Given the description of an element on the screen output the (x, y) to click on. 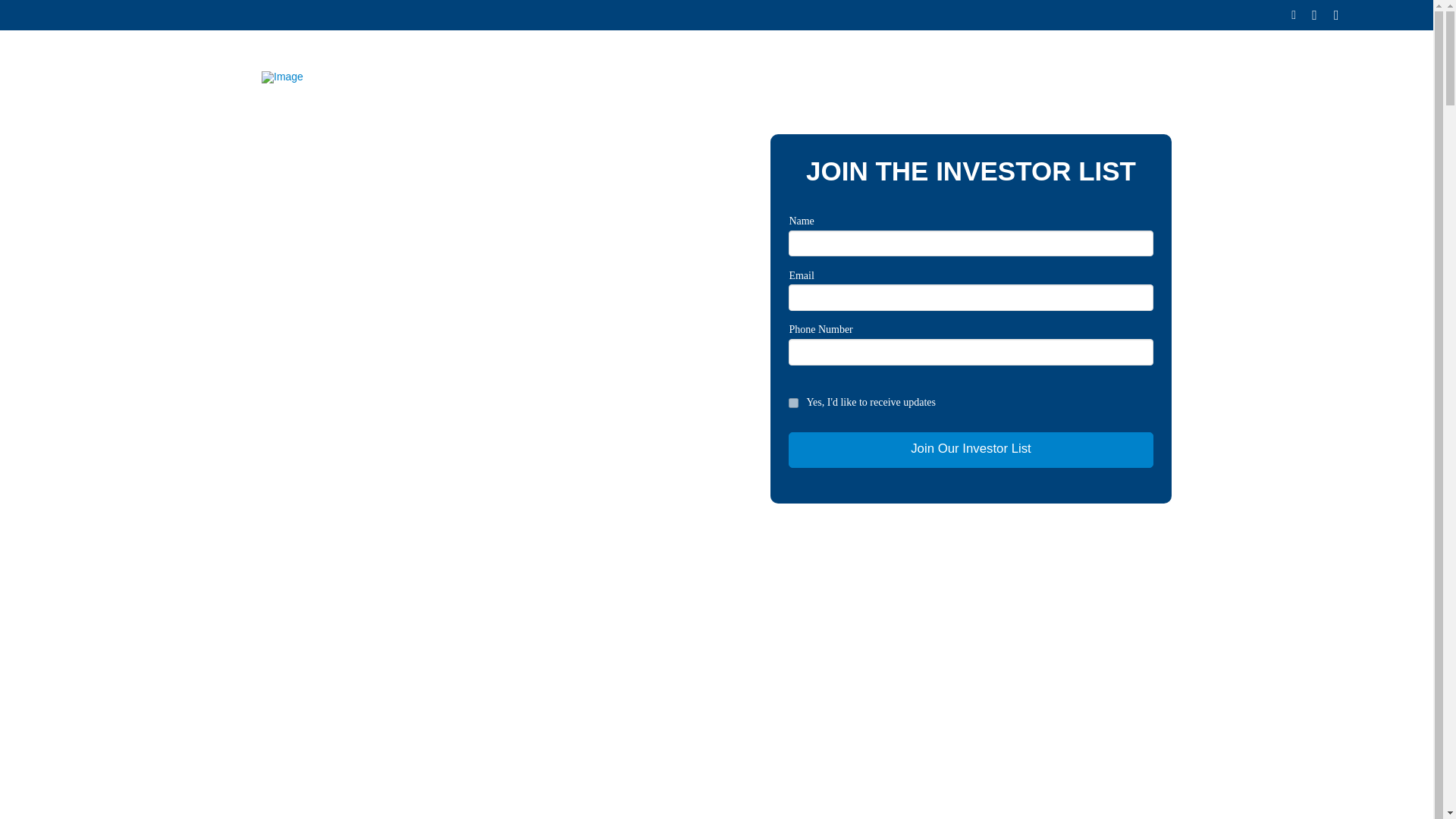
Join Our Investor List (971, 449)
Join Our Investor List (971, 449)
1 (793, 402)
